Given the description of an element on the screen output the (x, y) to click on. 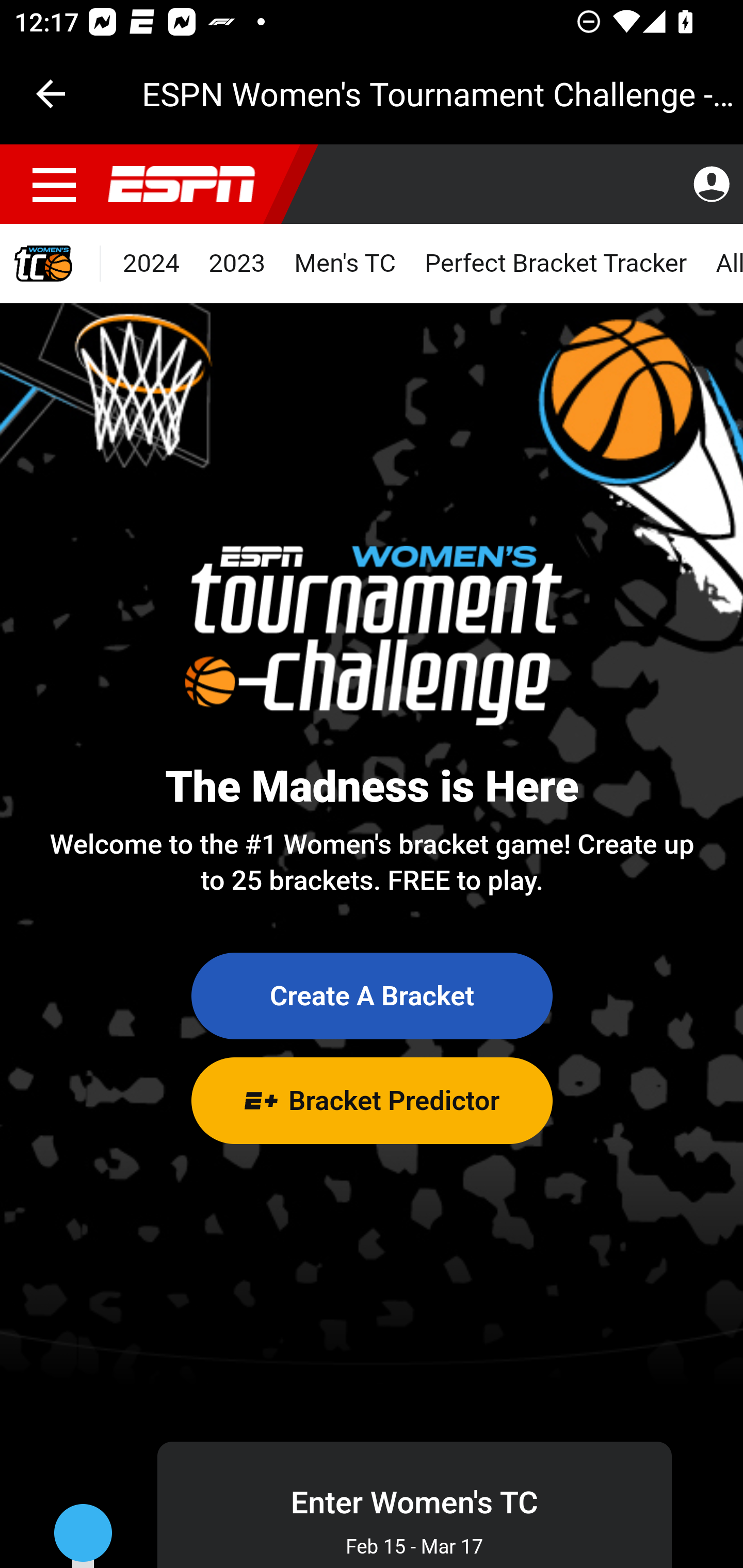
Navigate up (50, 93)
Menu (54, 184)
nav.arialabel.homepage (182, 184)
Profile Management (711, 184)
tournament-challenge-bracket-women-2024 (51, 264)
2024 (151, 264)
2023 (237, 264)
Men's TC (344, 264)
Perfect Bracket Tracker (555, 264)
Create A Bracket (371, 996)
Bracket Predictor (371, 1099)
